Given the description of an element on the screen output the (x, y) to click on. 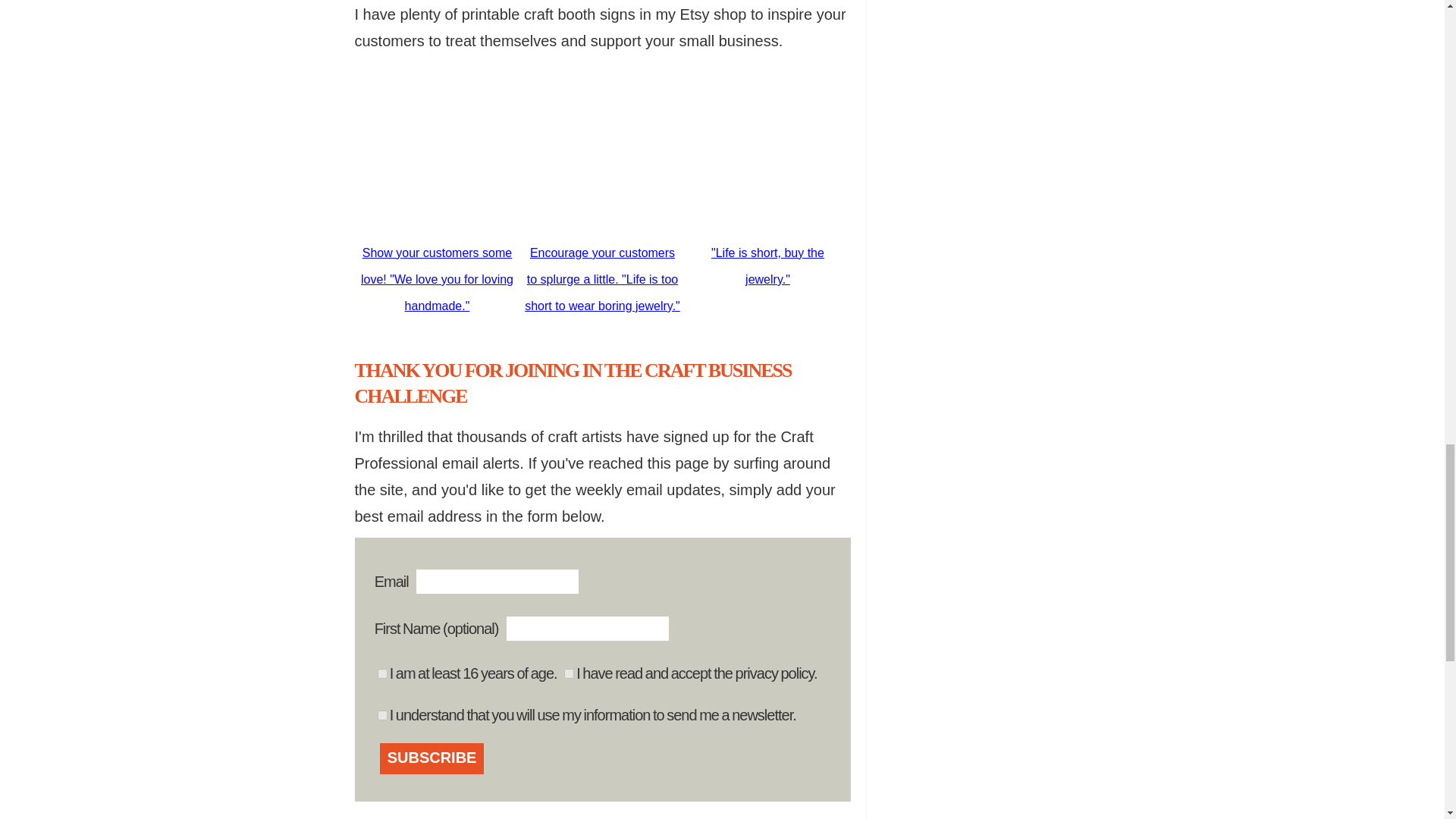
on (382, 673)
on (382, 715)
"Life is short, buy the jewelry." (766, 256)
SUBSCRIBE (432, 757)
on (568, 673)
